Given the description of an element on the screen output the (x, y) to click on. 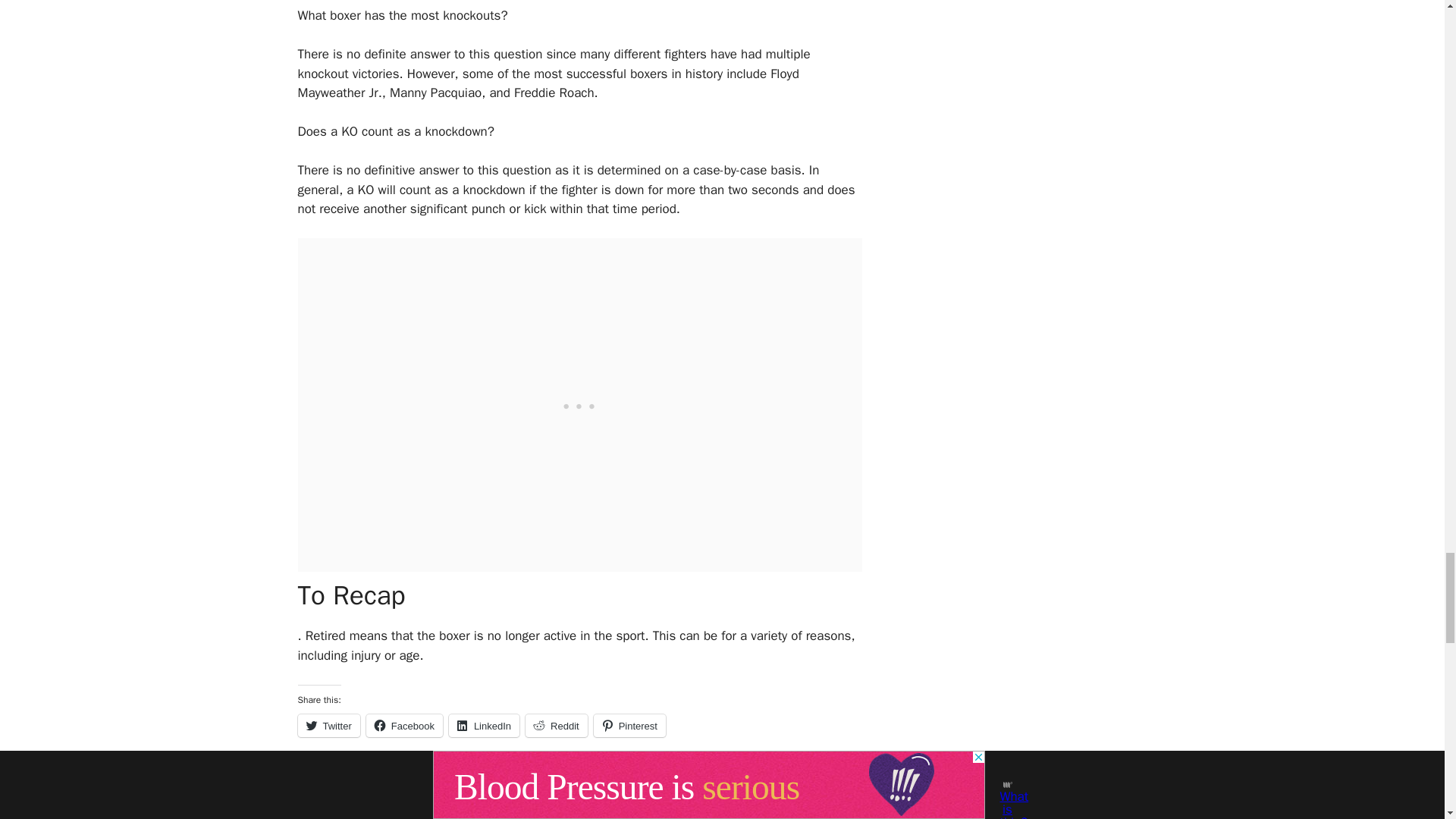
Click to share on LinkedIn (483, 725)
LinkedIn (483, 725)
Click to share on Twitter (328, 725)
Pinterest (629, 725)
Click to share on Facebook (404, 725)
Facebook (404, 725)
Click to share on Pinterest (629, 725)
Twitter (328, 725)
Reddit (556, 725)
Click to share on Reddit (556, 725)
